Given the description of an element on the screen output the (x, y) to click on. 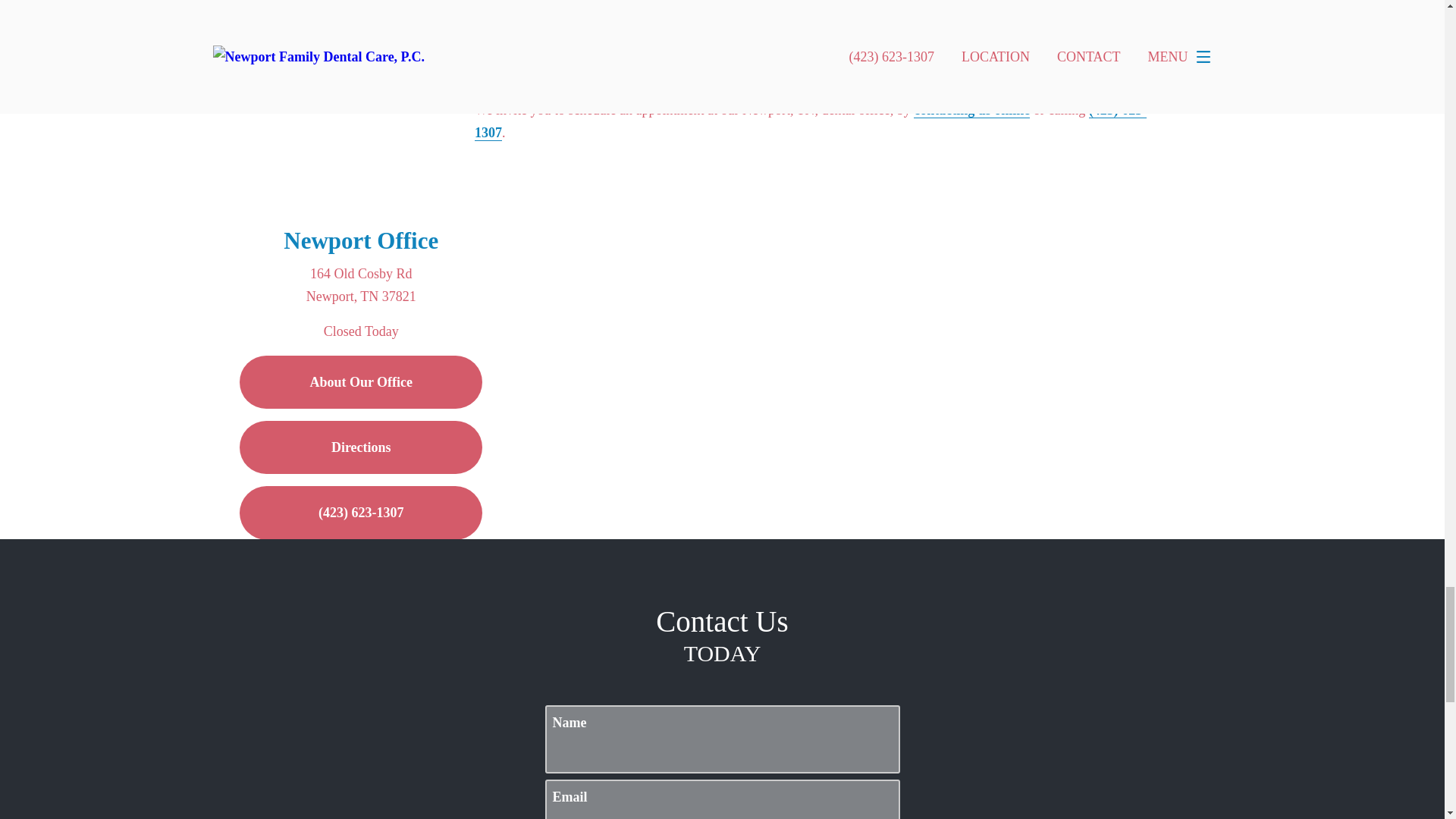
Directions (360, 447)
About Our Office (360, 381)
Locations (983, 222)
Newport Office (360, 240)
contacting us online (971, 109)
